Given the description of an element on the screen output the (x, y) to click on. 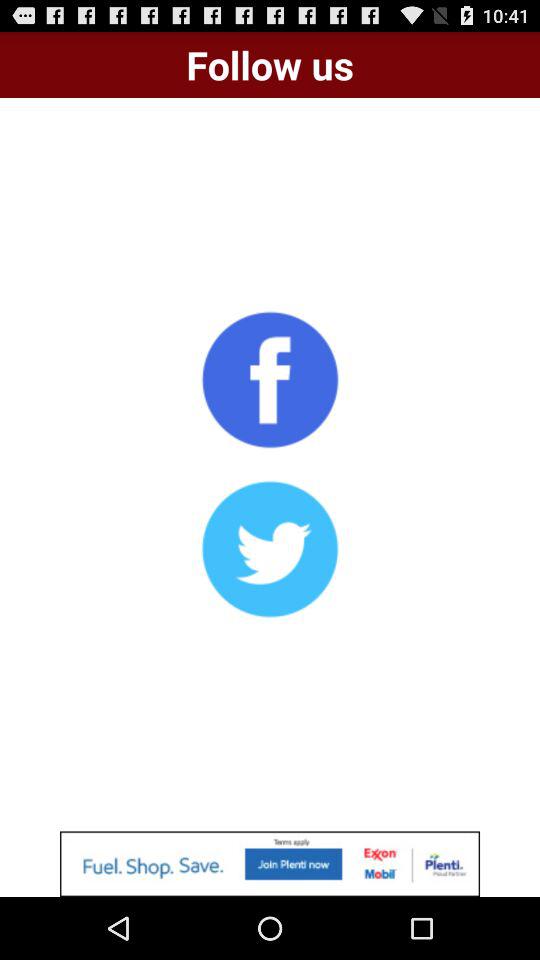
for advertisement (270, 864)
